Given the description of an element on the screen output the (x, y) to click on. 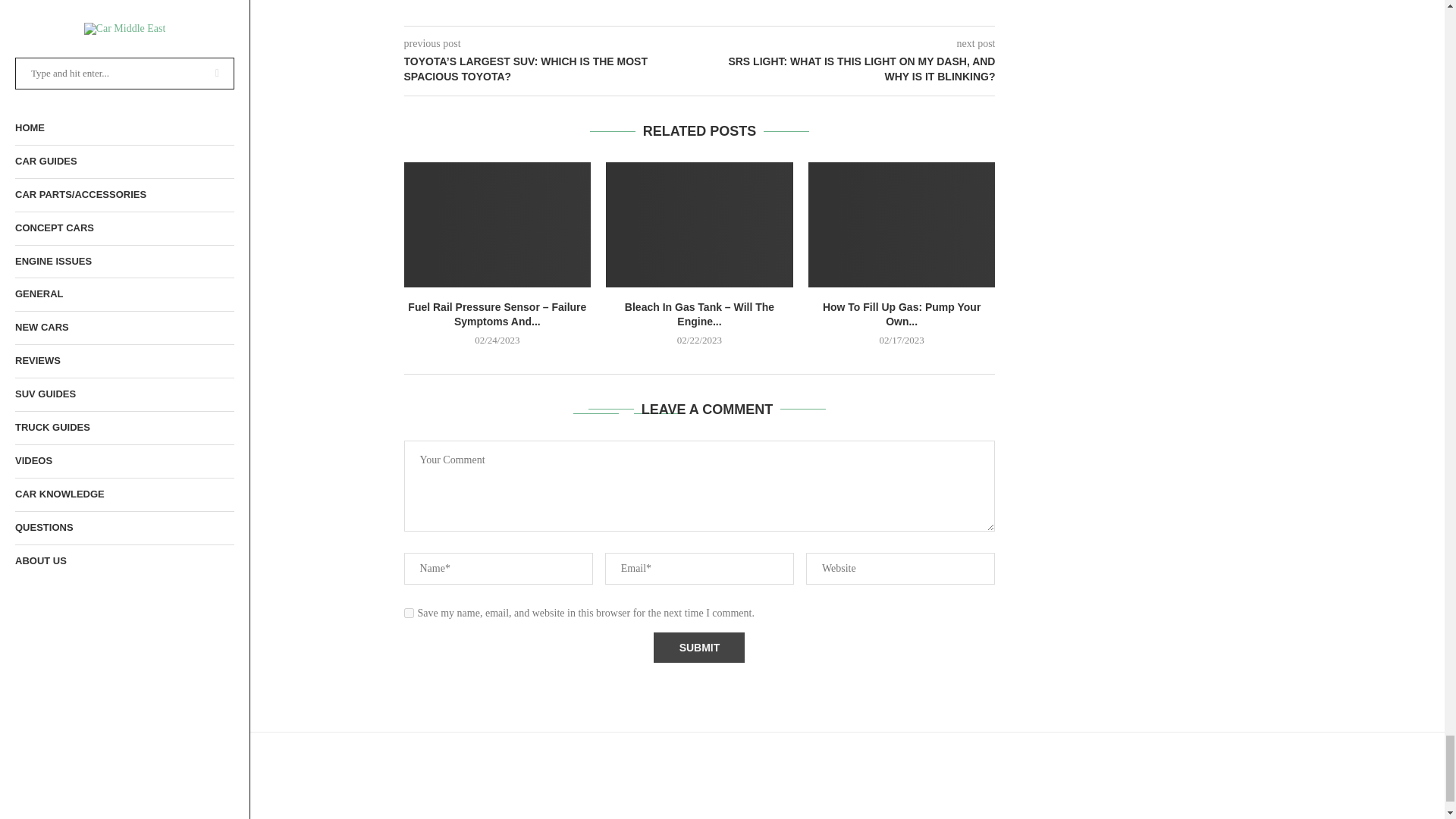
Submit (698, 647)
How To Fill Up Gas: Pump Your Own Fuel Tank At A Gas Station (901, 224)
yes (408, 613)
